Given the description of an element on the screen output the (x, y) to click on. 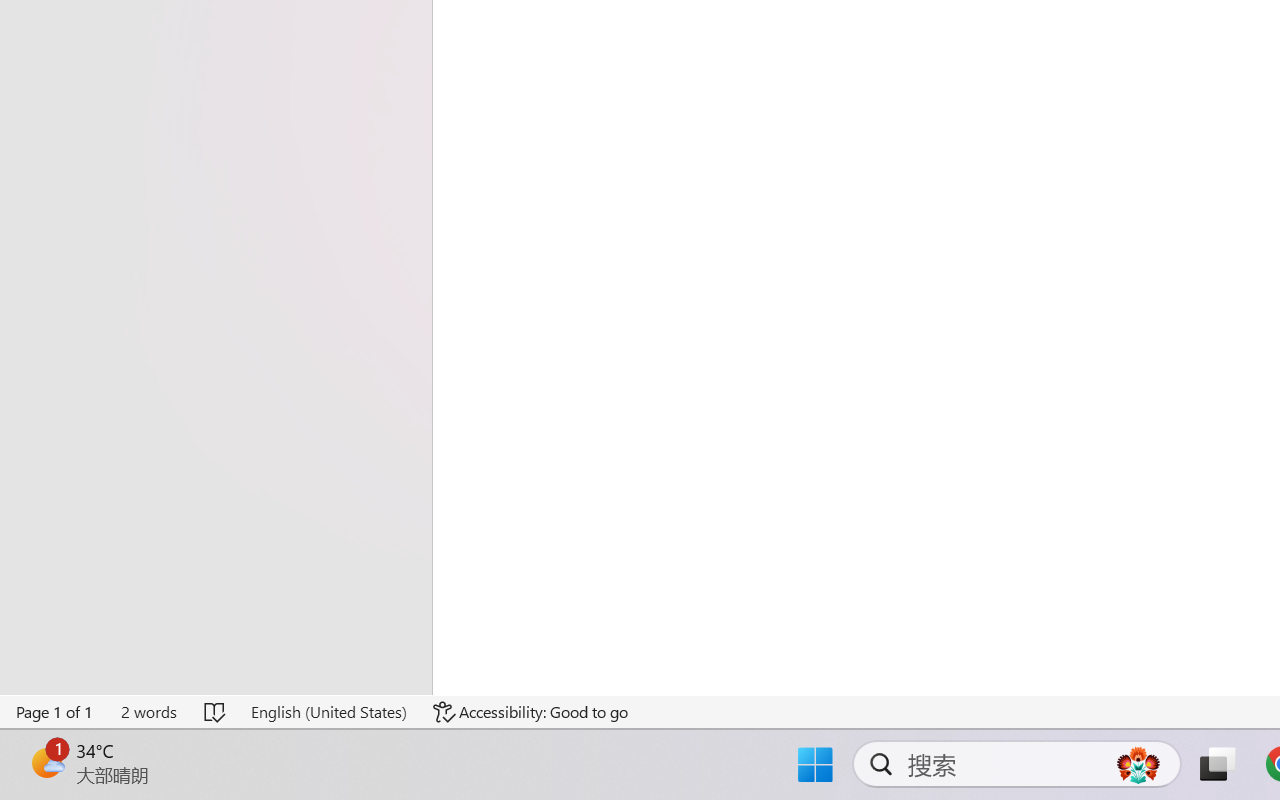
Spelling and Grammar Check No Errors (216, 712)
Language English (United States) (328, 712)
Page Number Page 1 of 1 (55, 712)
AutomationID: DynamicSearchBoxGleamImage (1138, 764)
Accessibility Checker Accessibility: Good to go (531, 712)
AutomationID: BadgeAnchorLargeTicker (46, 762)
